Given the description of an element on the screen output the (x, y) to click on. 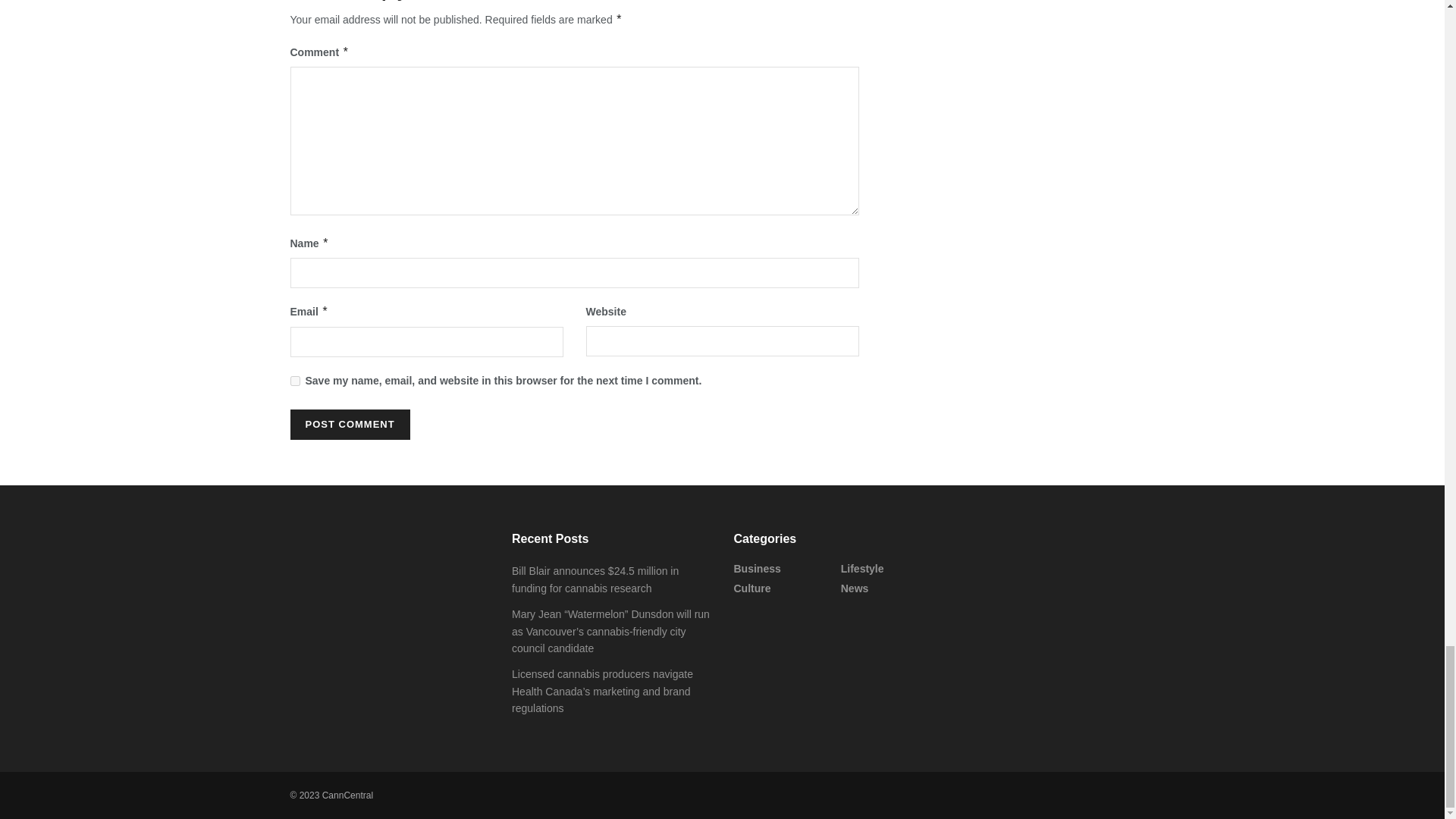
yes (294, 380)
Post Comment (349, 424)
